Given the description of an element on the screen output the (x, y) to click on. 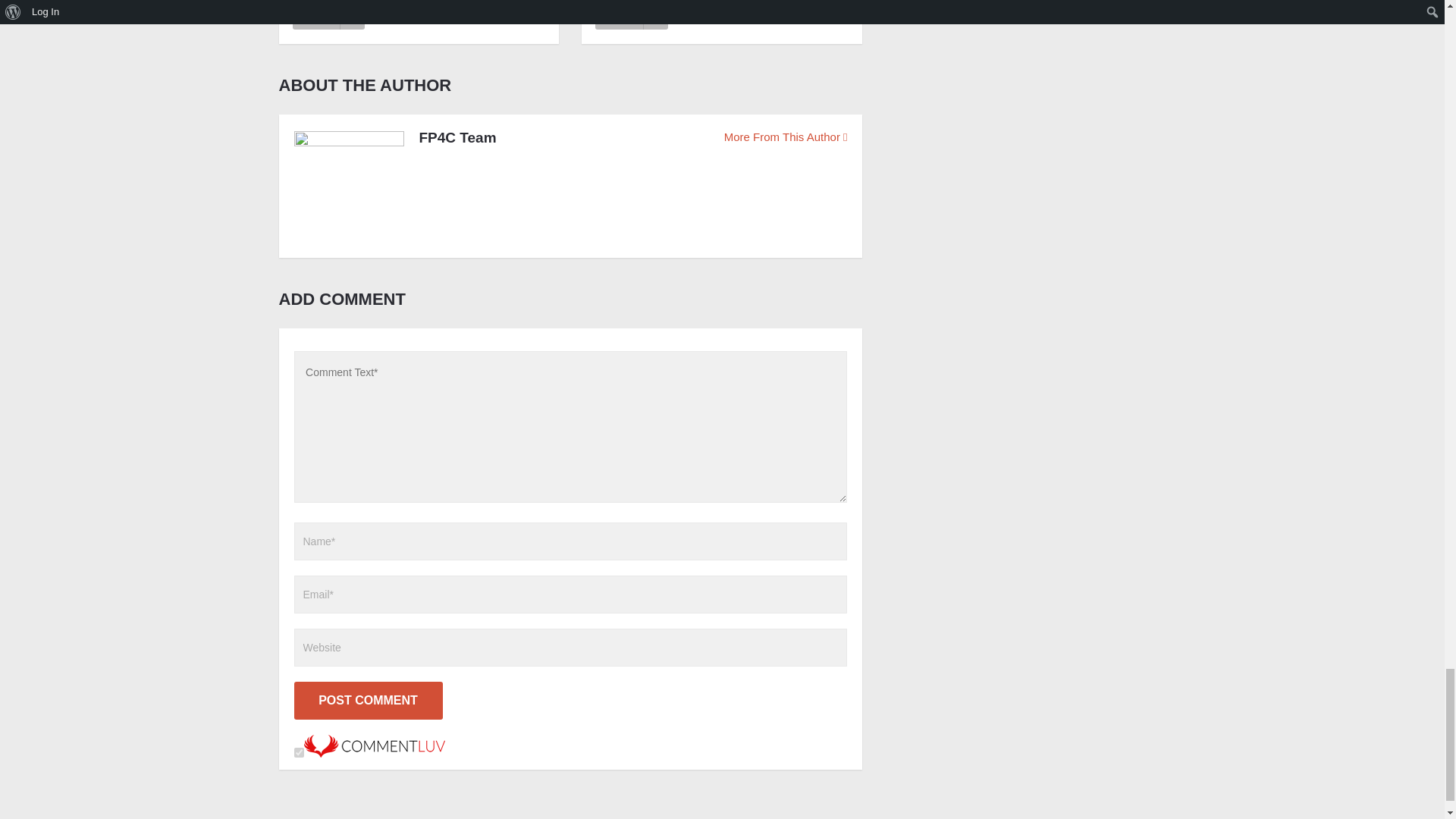
Post Comment (368, 700)
MORE (328, 15)
on (299, 752)
